Given the description of an element on the screen output the (x, y) to click on. 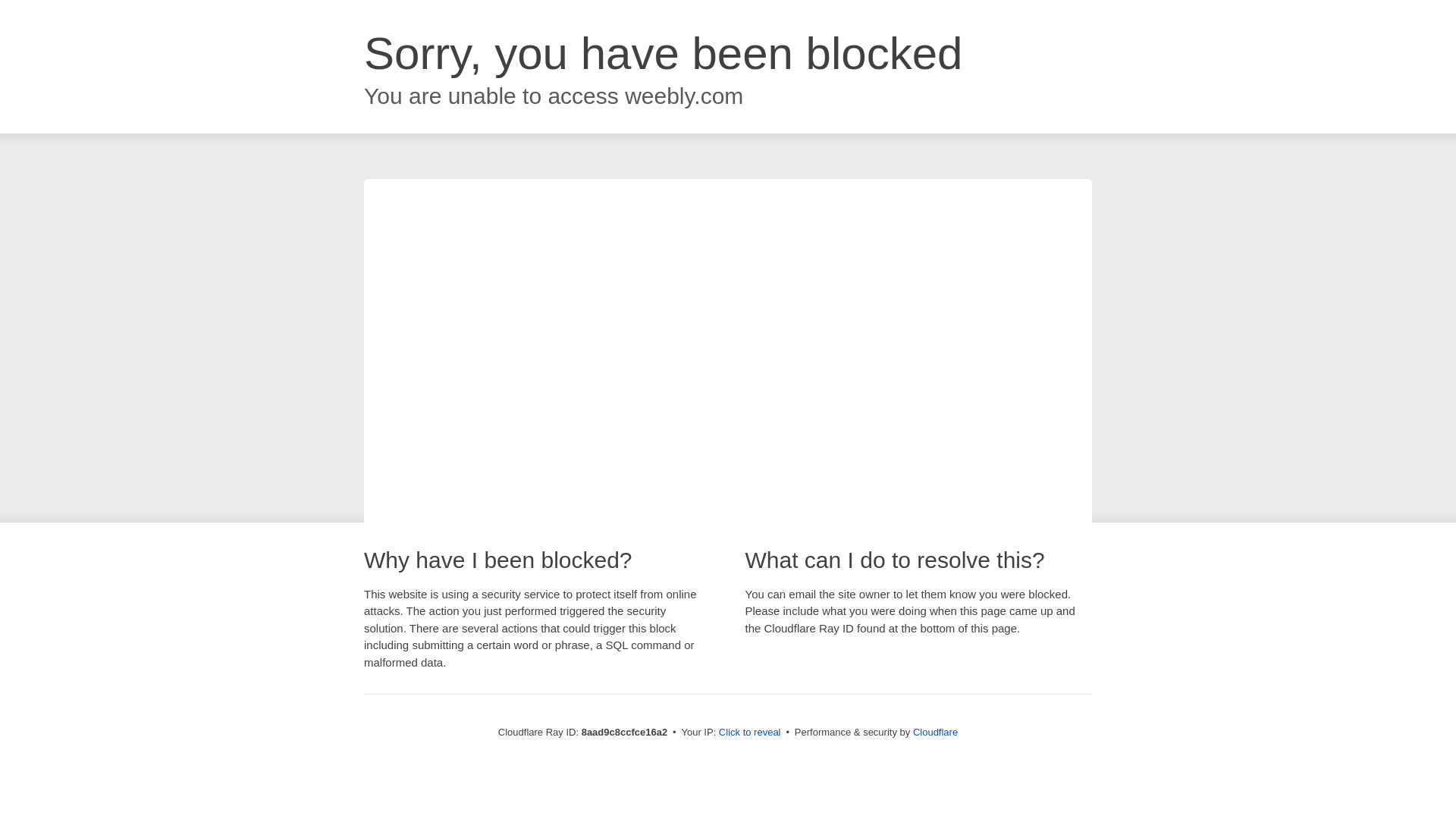
Cloudflare (935, 731)
Click to reveal (749, 732)
